Given the description of an element on the screen output the (x, y) to click on. 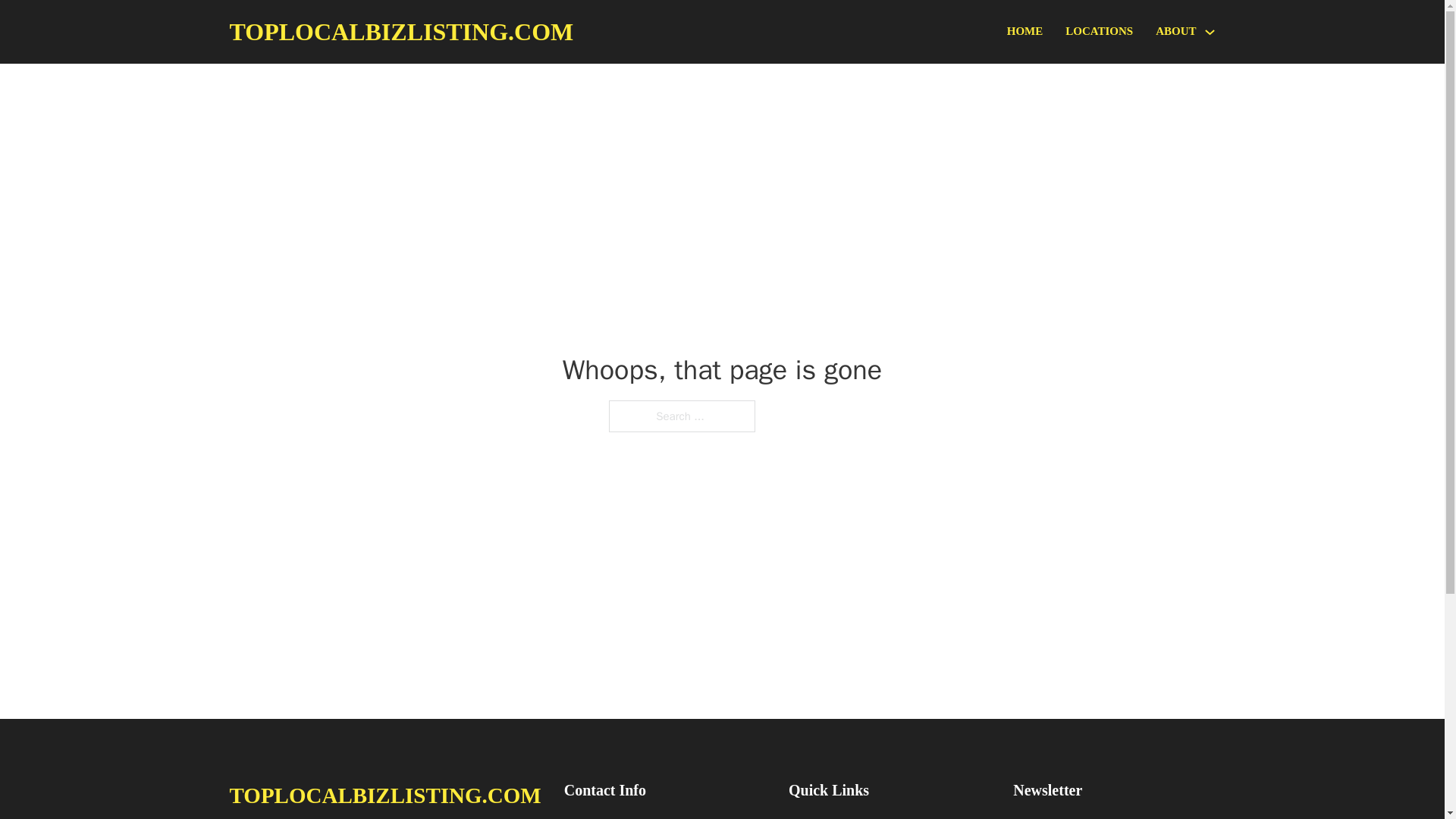
LOCATIONS (1098, 31)
TOPLOCALBIZLISTING.COM (384, 795)
HOME (1025, 31)
TOPLOCALBIZLISTING.COM (400, 31)
